Given the description of an element on the screen output the (x, y) to click on. 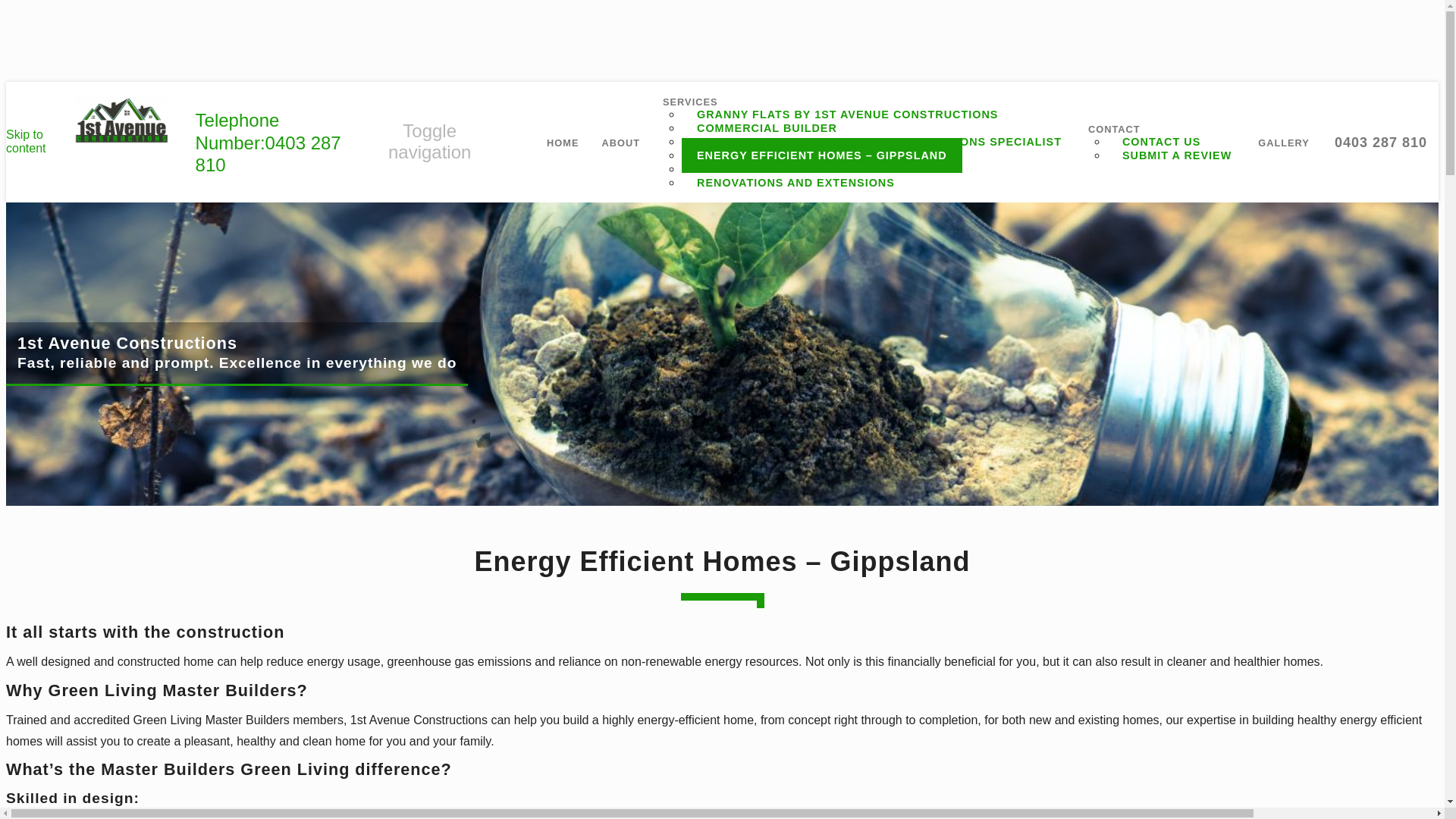
COMMERCIAL BUILDER (766, 127)
GIPPSLAND HERITAGE BUILDING RENOVATIONS SPECIALIST (879, 141)
0403 287 810 (1379, 140)
SUBMIT A REVIEW (1176, 155)
CONTACT US (1160, 141)
GALLERY (1283, 142)
GRANNY FLATS BY 1ST AVENUE CONSTRUCTIONS (847, 114)
Telephone Number:0403 287 810 (267, 142)
SERVICES (689, 101)
Skip to content (25, 140)
Toggle navigation (429, 141)
RENOVATIONS AND EXTENSIONS (795, 182)
Skip to content (25, 140)
CONTACT (1114, 128)
